Given the description of an element on the screen output the (x, y) to click on. 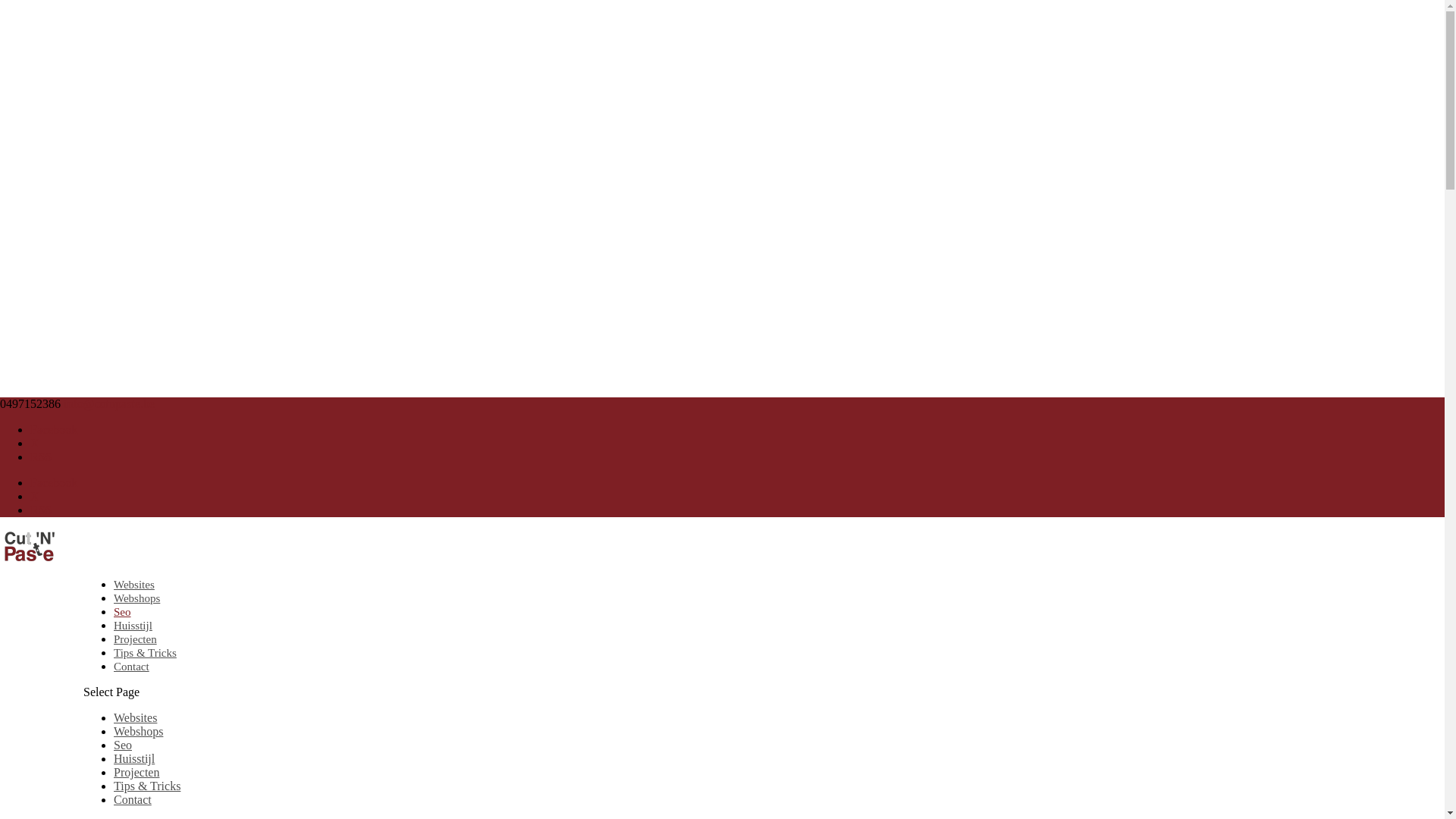
Webshops Element type: text (138, 730)
Webshops Element type: text (136, 598)
RSS Element type: text (40, 509)
Websites Element type: text (133, 584)
Contact Element type: text (131, 666)
Facebook Element type: text (53, 429)
Tips & Tricks Element type: text (146, 785)
Huisstijl Element type: text (133, 758)
X Element type: text (34, 495)
X Element type: text (34, 442)
RSS Element type: text (40, 456)
Seo Element type: text (122, 744)
info@cutnpaste.be Element type: text (108, 403)
Contact Element type: text (132, 799)
Seo Element type: text (122, 611)
Projecten Element type: text (134, 639)
Tips & Tricks Element type: text (144, 652)
Huisstijl Element type: text (132, 625)
Websites Element type: text (134, 717)
Projecten Element type: text (136, 771)
Facebook Element type: text (53, 482)
